Given the description of an element on the screen output the (x, y) to click on. 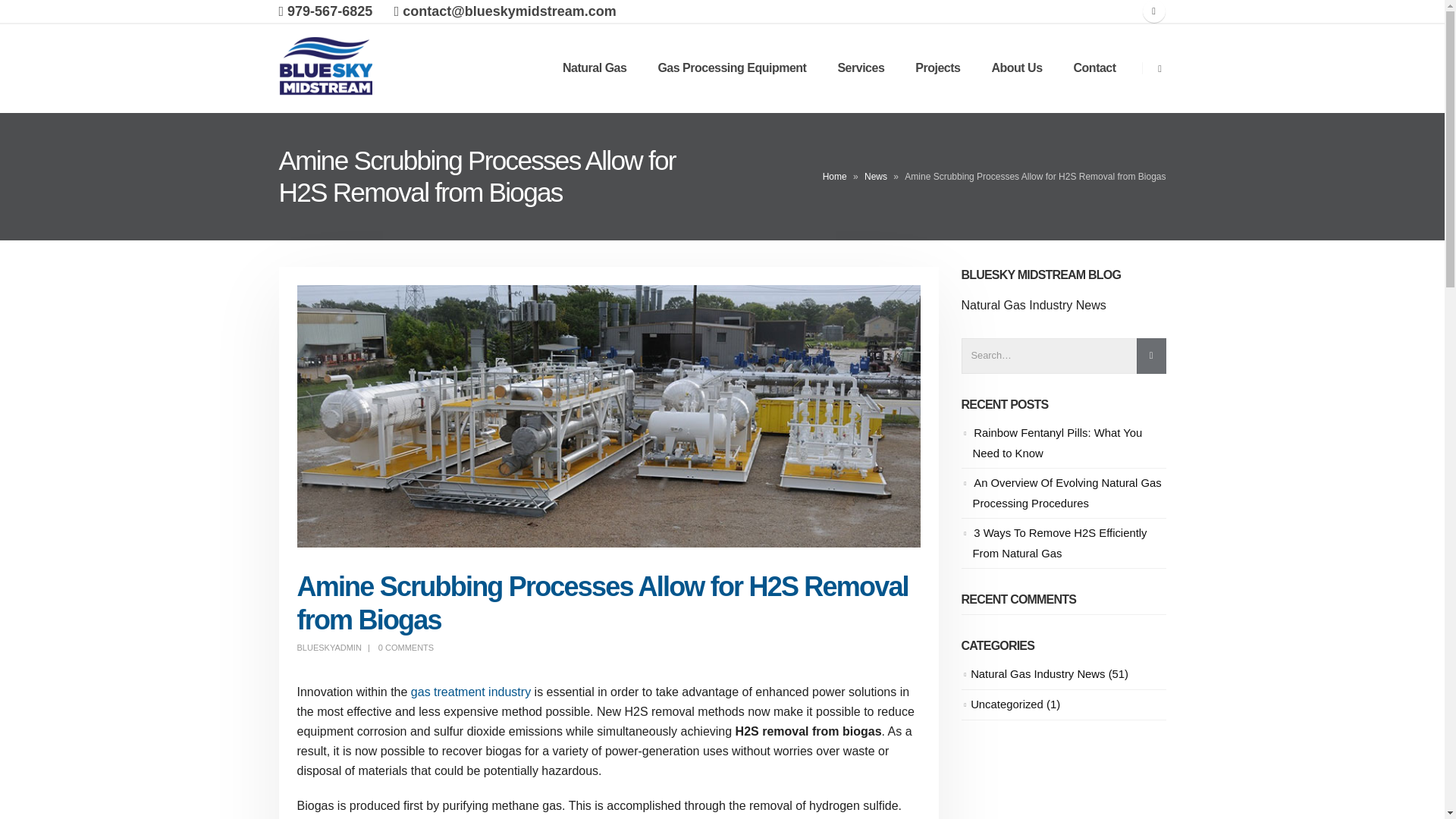
979-567-6825 (325, 10)
Instagram (1152, 11)
Posts by blueskyadmin (329, 646)
Gas Processing Equipment (731, 67)
About Us (1016, 67)
Blue Sky Midstream - Blue Sky Midstream (325, 68)
Services (860, 67)
Contact (1094, 67)
0 COMMENTS (405, 646)
Projects (937, 67)
Natural Gas (594, 67)
